Given the description of an element on the screen output the (x, y) to click on. 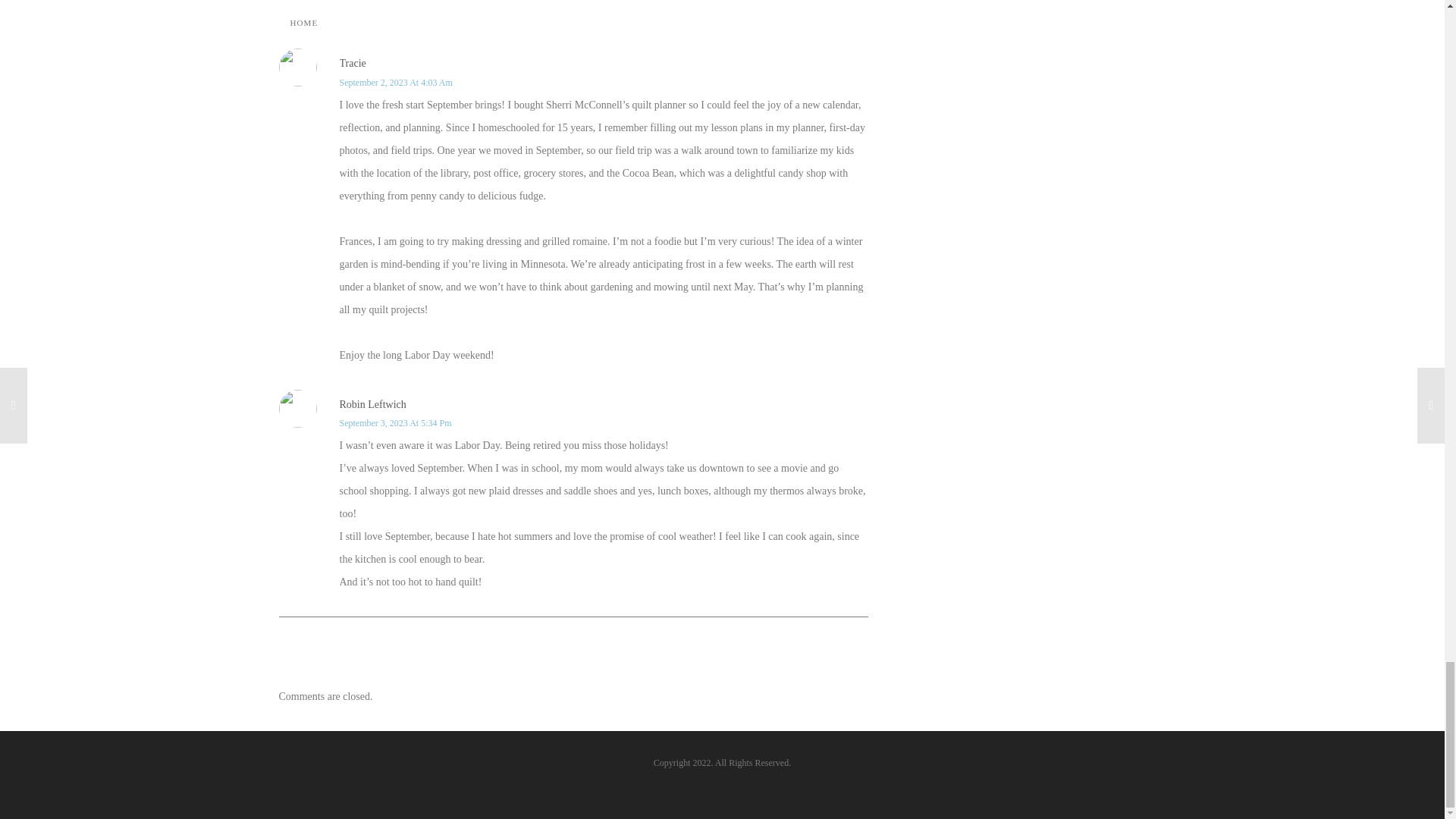
September 2, 2023 At 4:03 Am (395, 81)
September 3, 2023 At 5:34 Pm (395, 422)
Tracie (352, 62)
Robin Leftwich (372, 404)
